Given the description of an element on the screen output the (x, y) to click on. 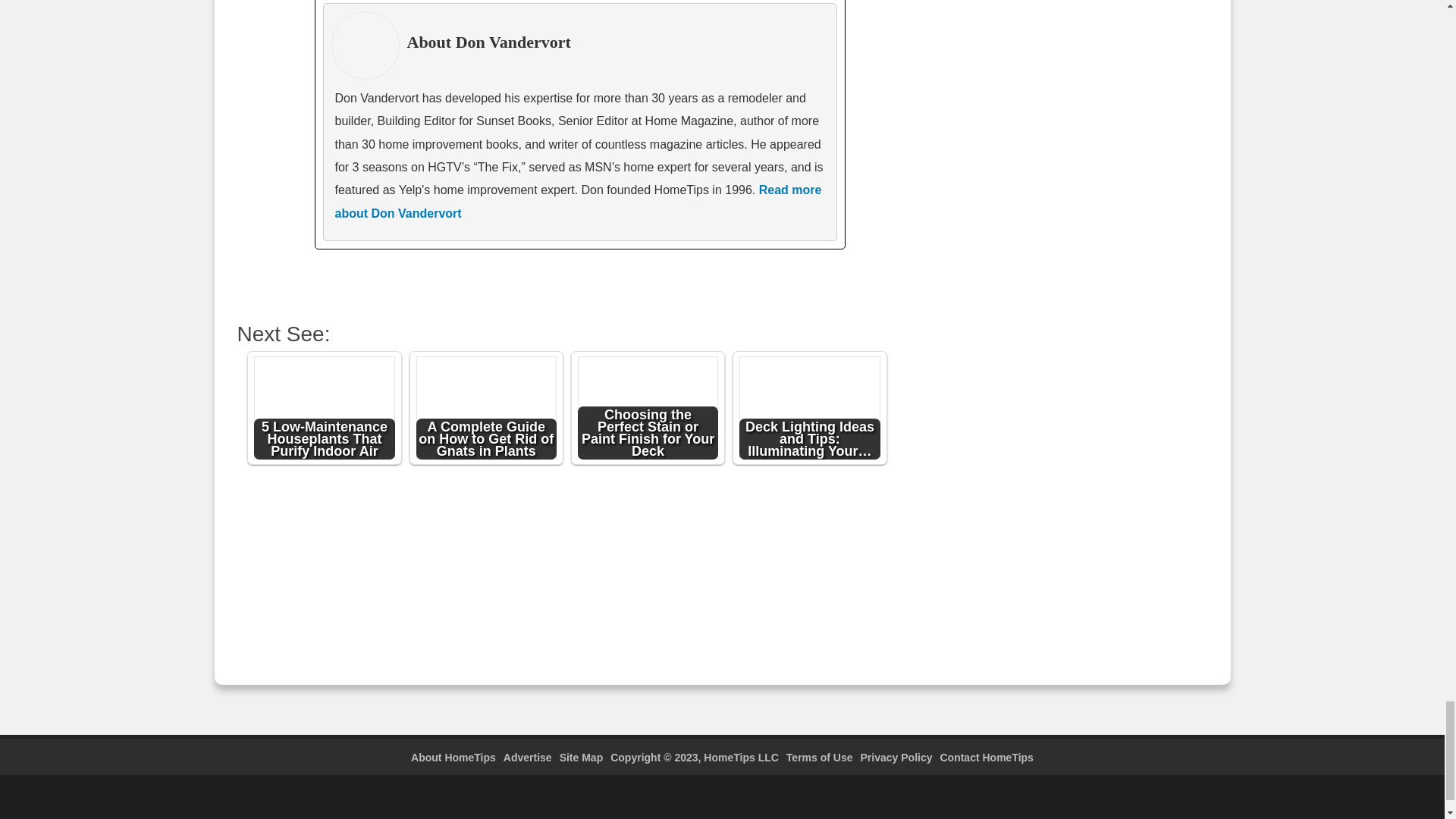
A Complete Guide on How to Get Rid of Gnats in Plants (486, 410)
Choosing the Perfect Stain or Paint Finish for Your Deck (648, 410)
5 Low-Maintenance Houseplants That Purify Indoor Air (323, 410)
